Given the description of an element on the screen output the (x, y) to click on. 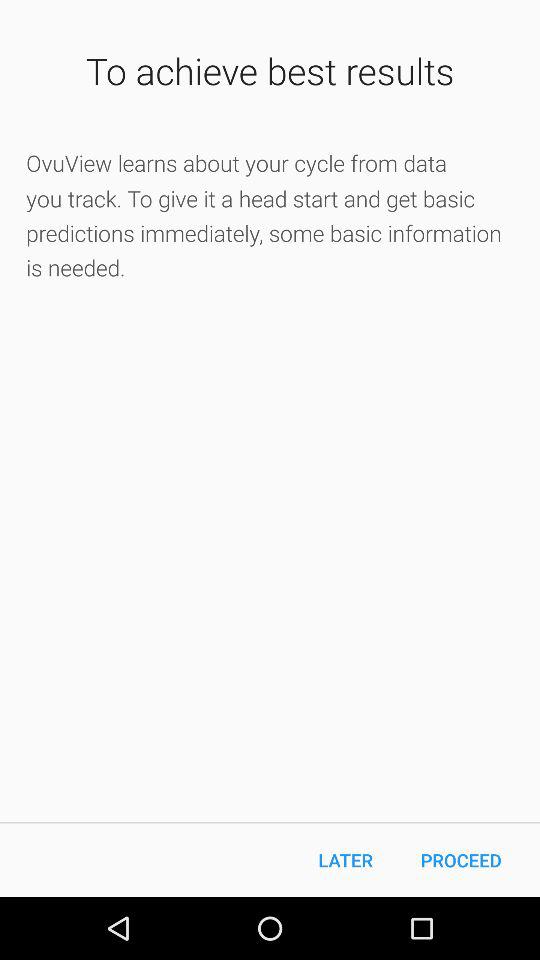
swipe until the later icon (345, 859)
